Given the description of an element on the screen output the (x, y) to click on. 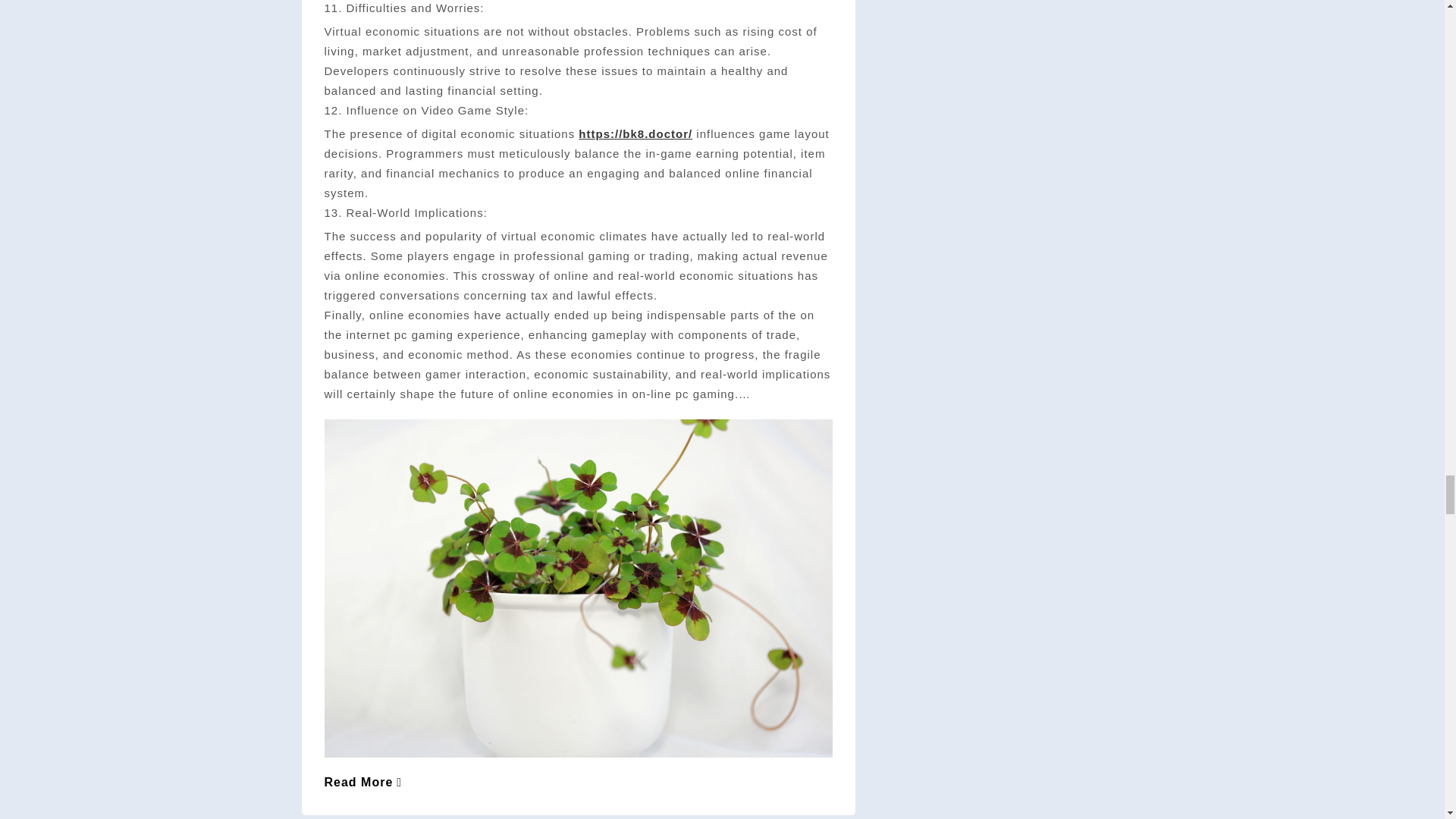
Read More (363, 781)
